Given the description of an element on the screen output the (x, y) to click on. 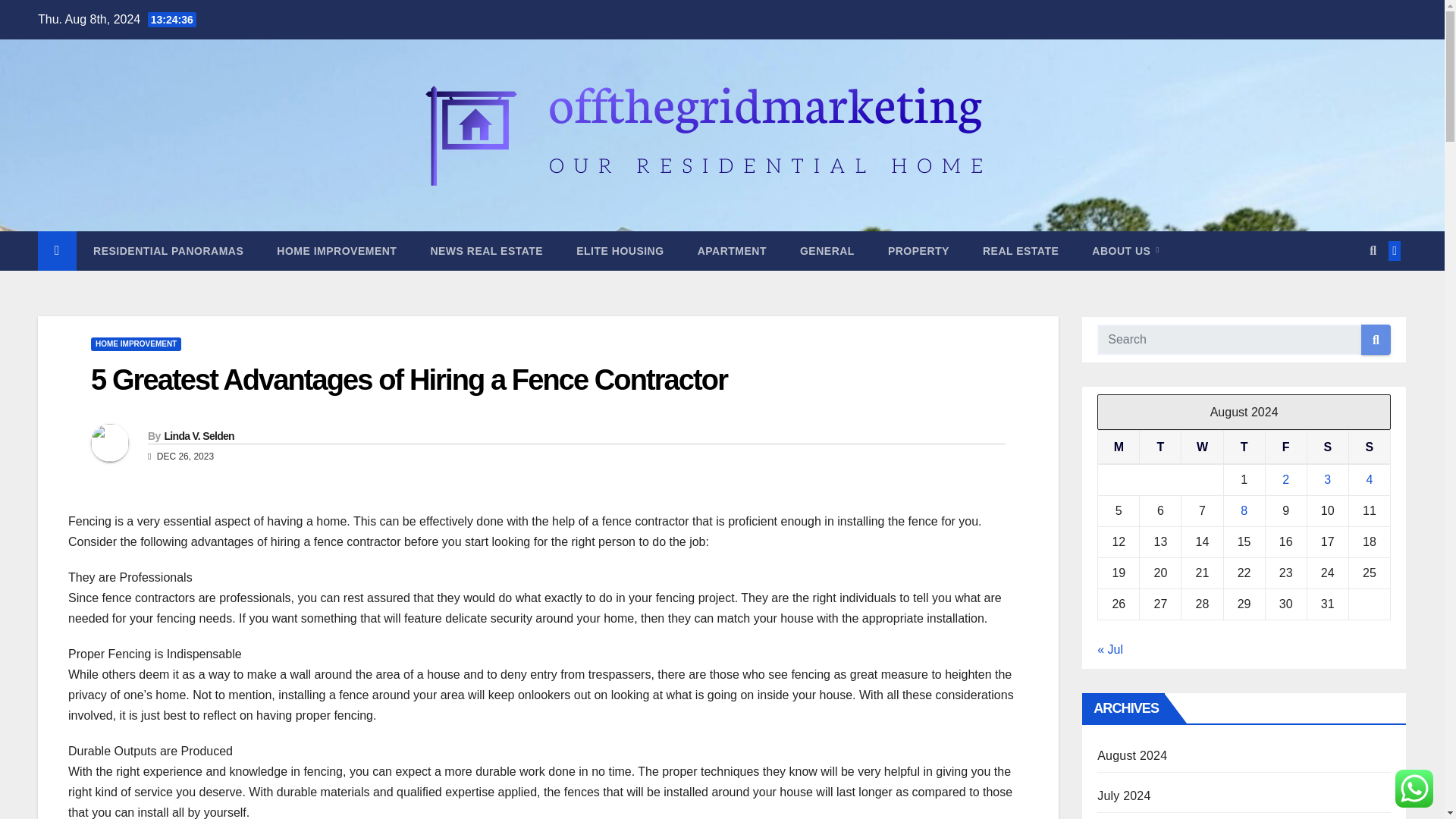
PROPERTY (918, 250)
HOME IMPROVEMENT (135, 344)
Property (918, 250)
RESIDENTIAL PANORAMAS (168, 250)
Residential Panoramas (168, 250)
News real estate (486, 250)
GENERAL (826, 250)
Home Improvement (336, 250)
Real Estate (1020, 250)
